Given the description of an element on the screen output the (x, y) to click on. 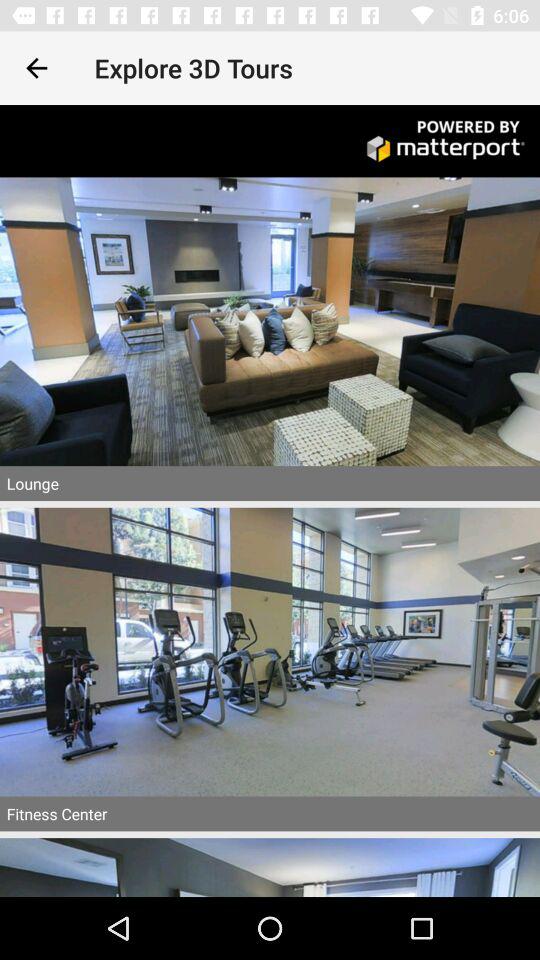
tap item at the top left corner (36, 68)
